Given the description of an element on the screen output the (x, y) to click on. 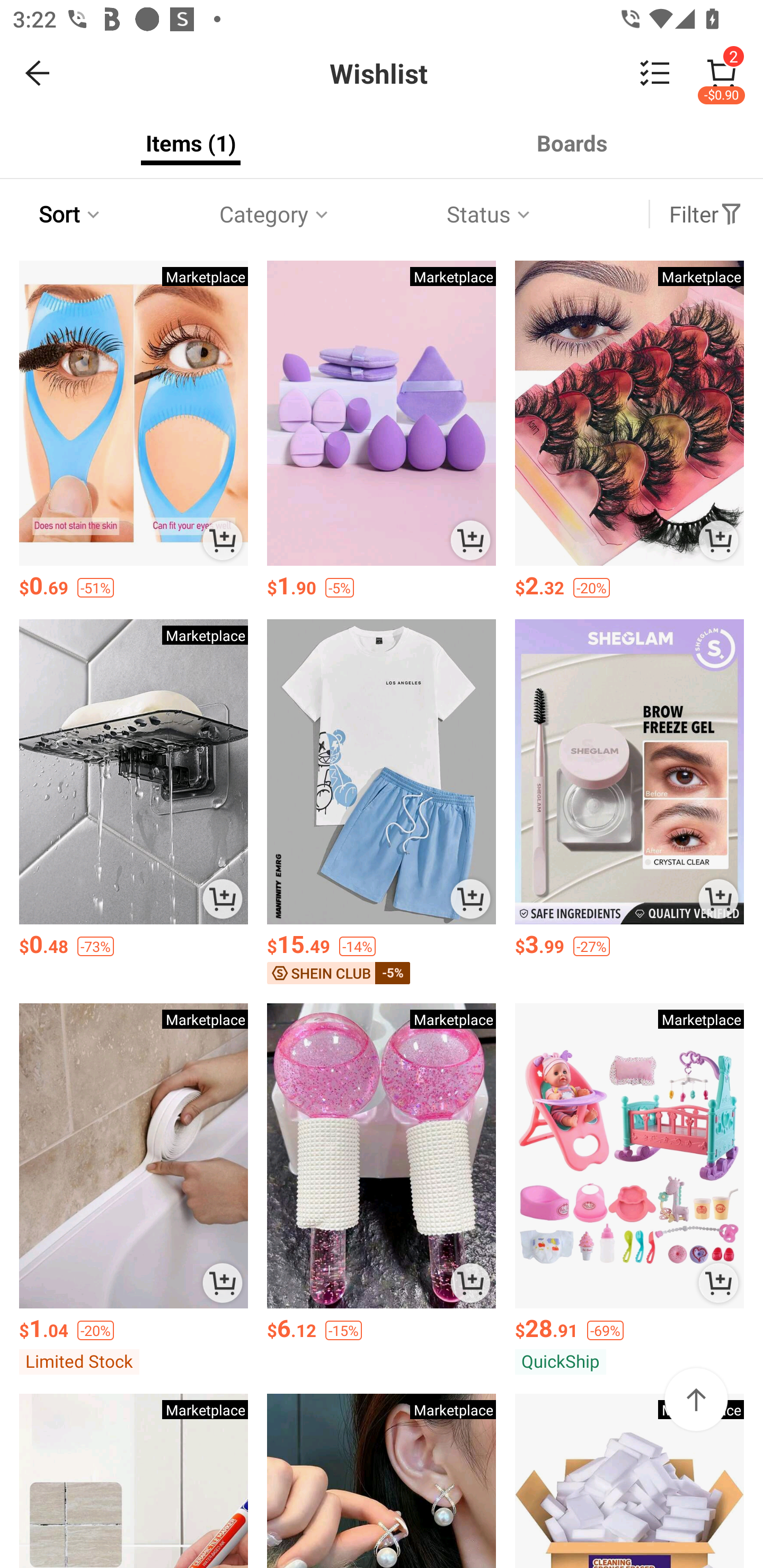
Wishlist (381, 72)
2 -$0.90 (721, 72)
change view (654, 72)
BACK (38, 72)
Items (1) (190, 143)
Boards (572, 143)
Category (275, 213)
Status (489, 213)
Filter (705, 213)
Price cut (75, 214)
ADD TO CART (221, 540)
ADD TO CART (469, 540)
ADD TO CART (717, 540)
ADD TO CART (221, 899)
ADD TO CART (469, 899)
ADD TO CART (717, 899)
ADD TO CART (221, 1282)
ADD TO CART (469, 1282)
ADD TO CART (717, 1282)
Back to top (696, 1399)
